Given the description of an element on the screen output the (x, y) to click on. 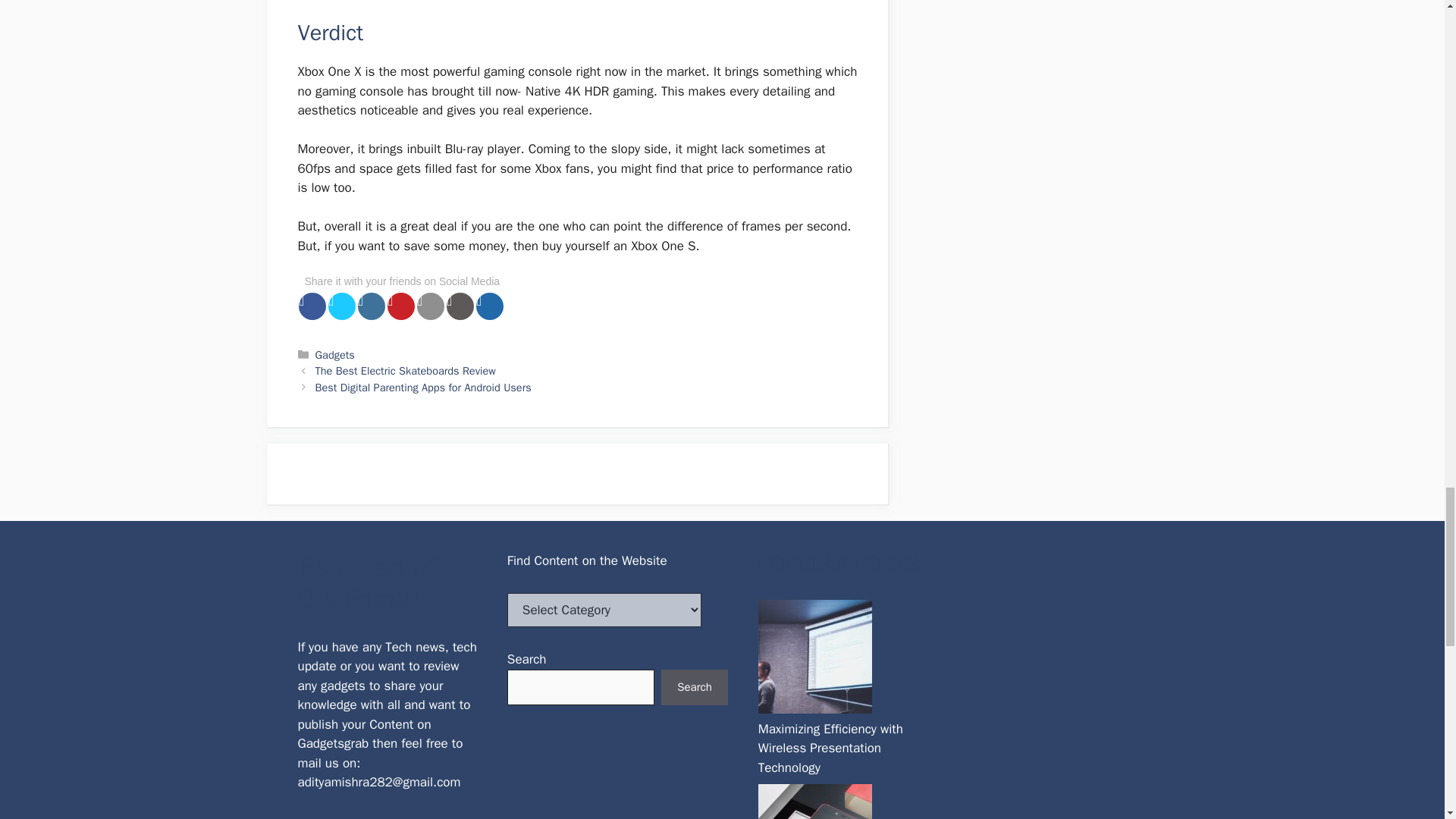
Share on Facebook (312, 306)
Gadgets (335, 354)
Share it on Email (430, 306)
Share on Twitter (342, 306)
The Best Electric Skateboards Review (405, 370)
Share on Pinterest (400, 306)
Share on LinkedIn (371, 306)
